Given the description of an element on the screen output the (x, y) to click on. 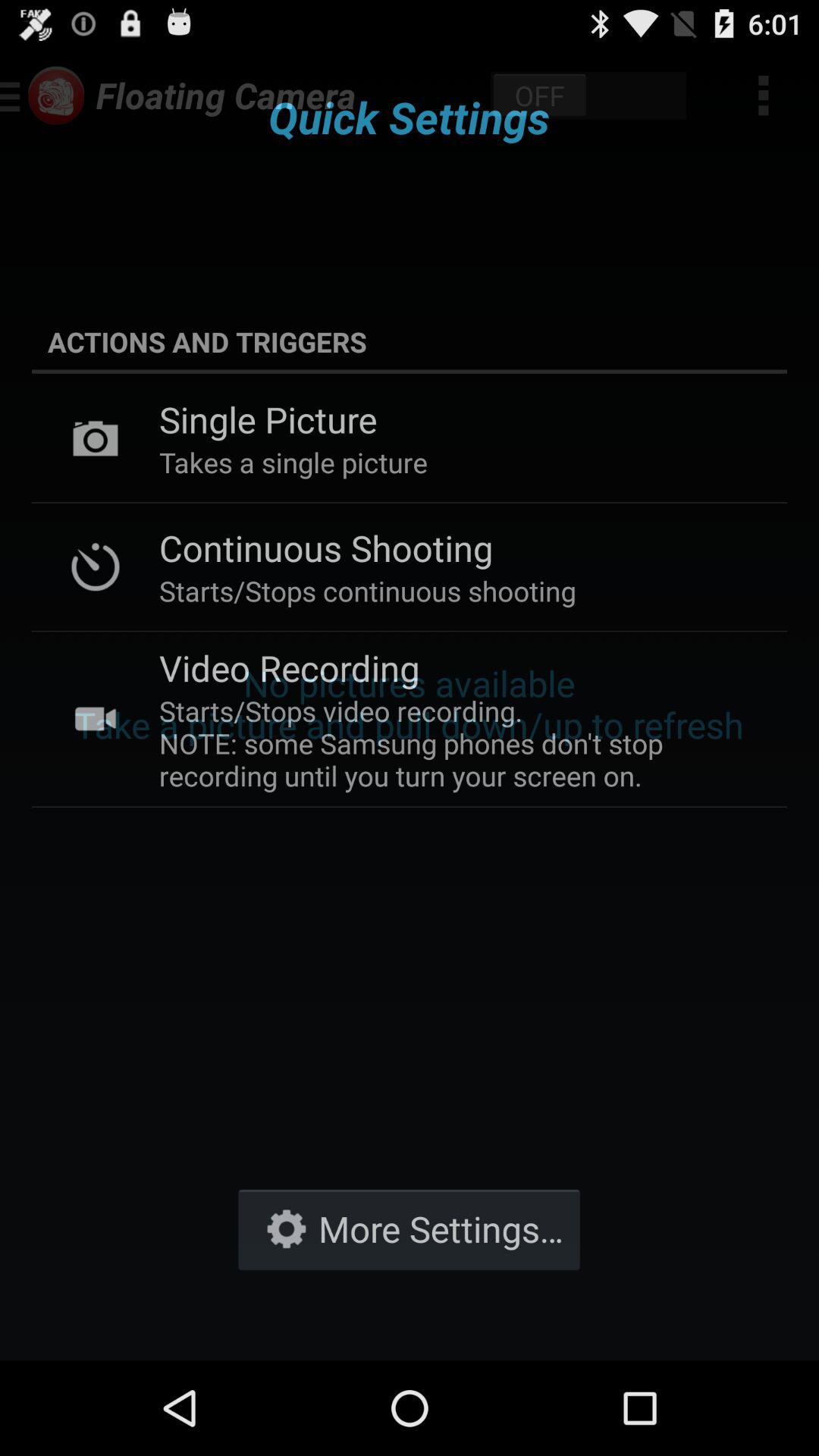
turn on item below the quick settings app (409, 341)
